Given the description of an element on the screen output the (x, y) to click on. 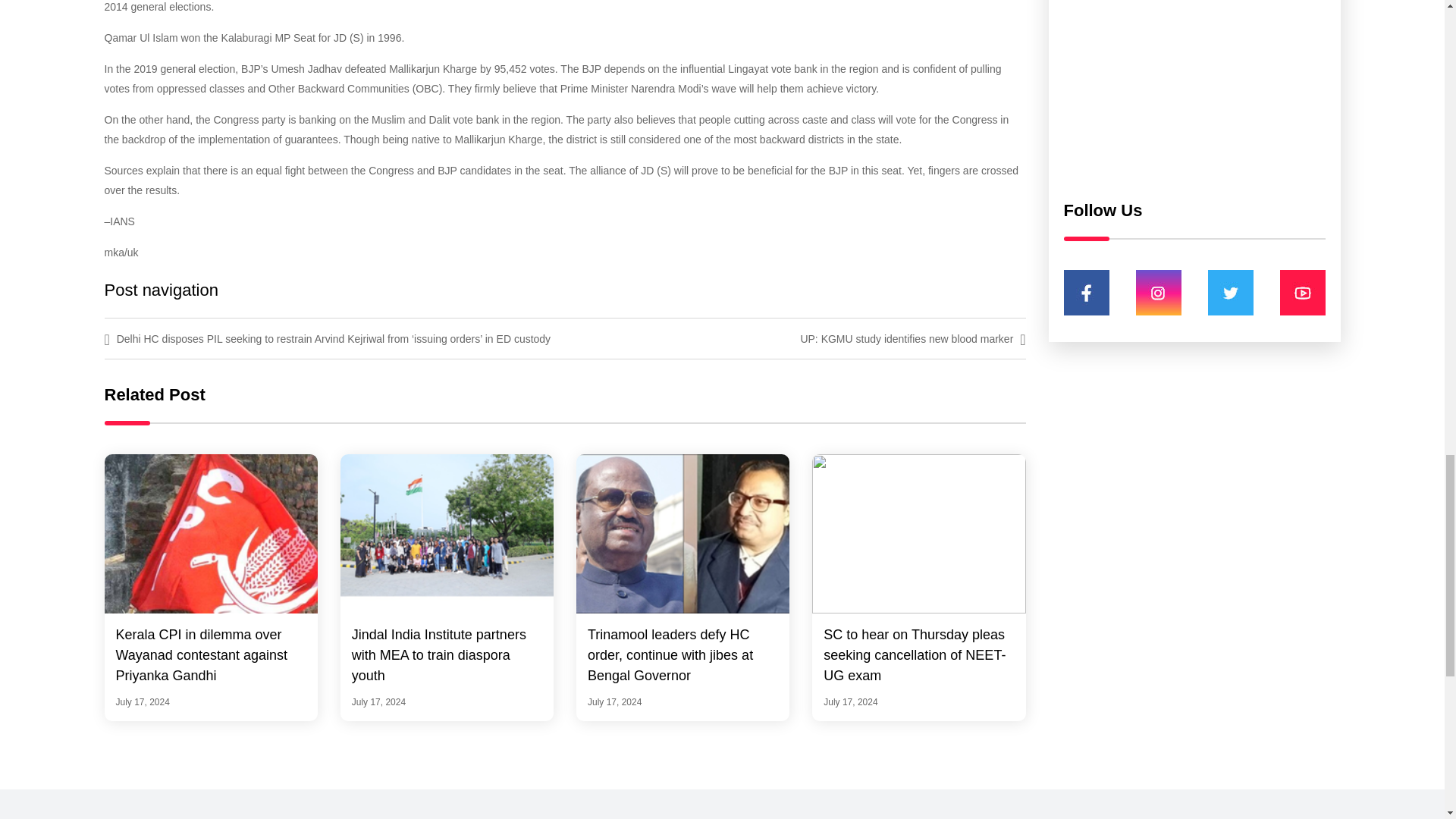
Lyra-Homes-Buyers-agency-902x1251 (1193, 93)
